Given the description of an element on the screen output the (x, y) to click on. 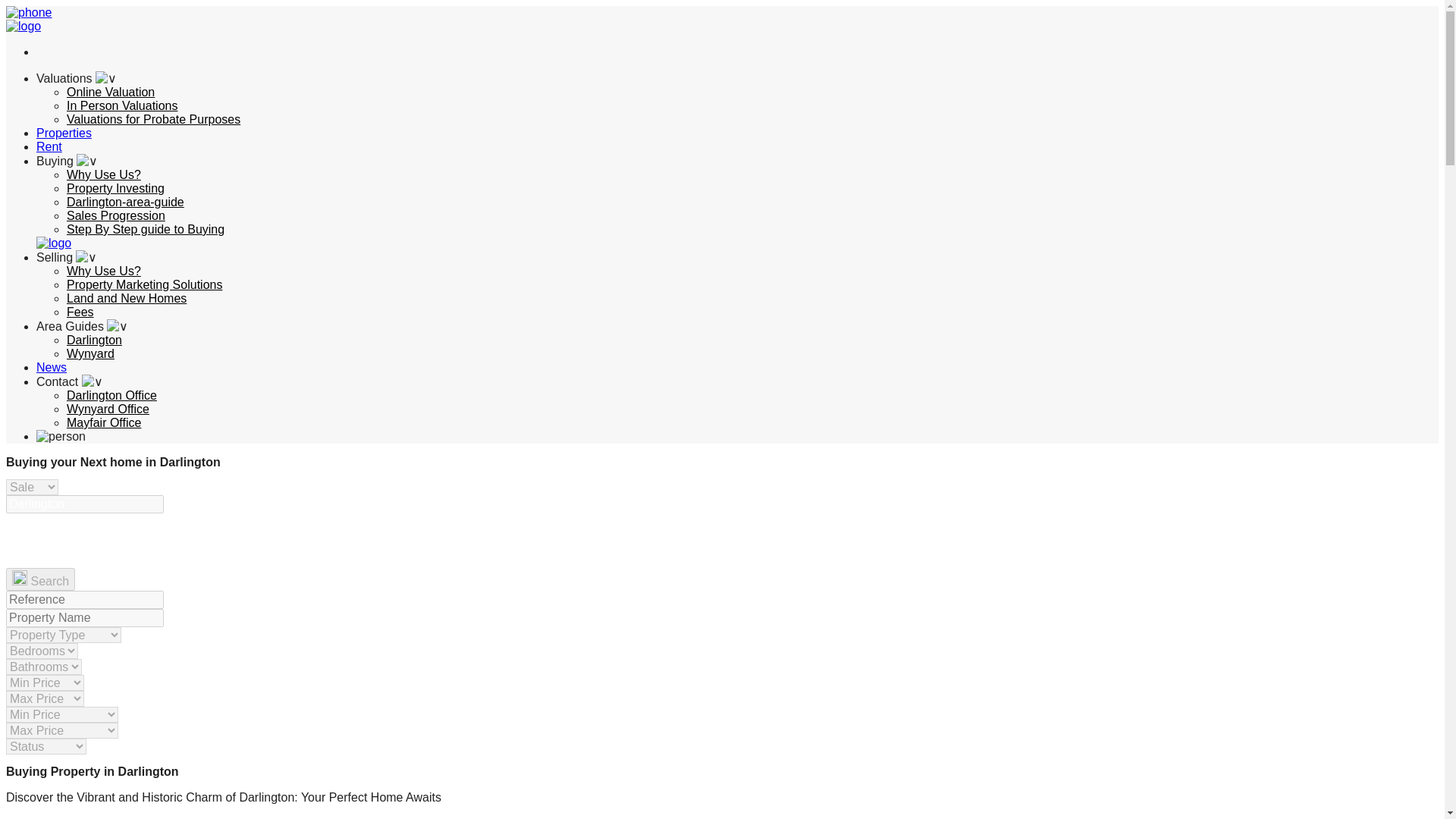
Select selling (66, 256)
Fees (80, 311)
Darlington (94, 339)
Step By Step guide to Buying (145, 228)
Property Investing (115, 187)
Select news (51, 367)
Darlington Office (111, 395)
Wynyard (90, 353)
Selling (66, 256)
Select buying (66, 160)
Buying (66, 160)
Valuations (76, 78)
Select area-guides (82, 326)
Rent (49, 146)
Property Marketing Solutions (144, 284)
